Given the description of an element on the screen output the (x, y) to click on. 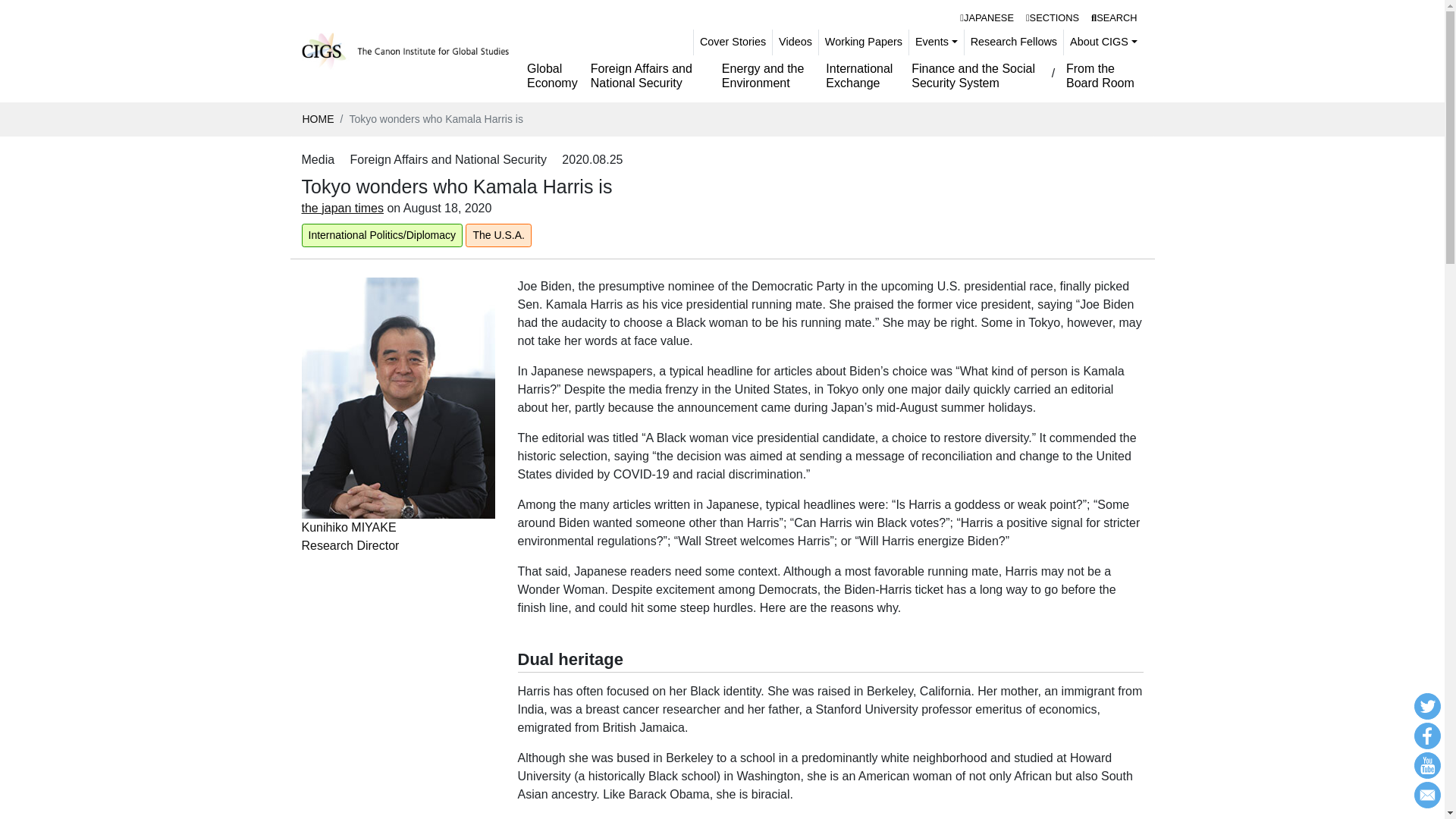
From the Board Room (1100, 75)
Energy and the Environment (767, 75)
International Exchange (862, 75)
the japan times (342, 207)
About CIGS (1103, 41)
JAPANESE (986, 17)
Cover Stories (732, 41)
Research Fellows (1012, 41)
Videos (795, 41)
Global Economy (553, 75)
The U.S.A. (498, 235)
SECTIONS (398, 472)
Foreign Affairs and National Security (1052, 17)
Finance and the Social Security System (650, 75)
